Given the description of an element on the screen output the (x, y) to click on. 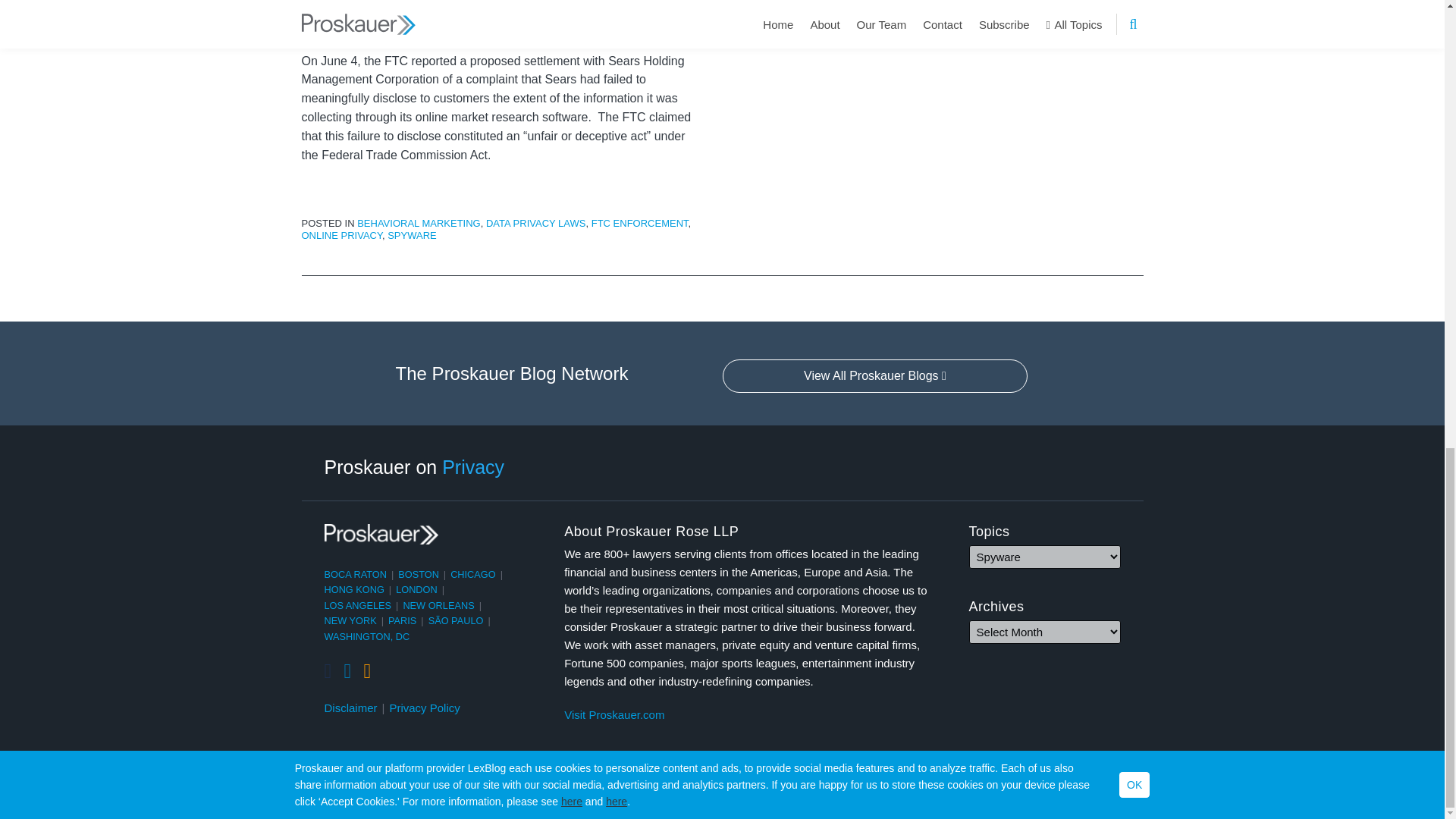
SPYWARE (411, 235)
BOSTON (418, 573)
Proskauer on Privacy (414, 465)
DATA PRIVACY LAWS (535, 223)
BOCA RATON (355, 573)
BEHAVIORAL MARKETING (418, 223)
ONLINE PRIVACY (341, 235)
LexBlog Logo (1131, 793)
FTC ENFORCEMENT (639, 223)
View All Proskauer Blogs (874, 376)
